Given the description of an element on the screen output the (x, y) to click on. 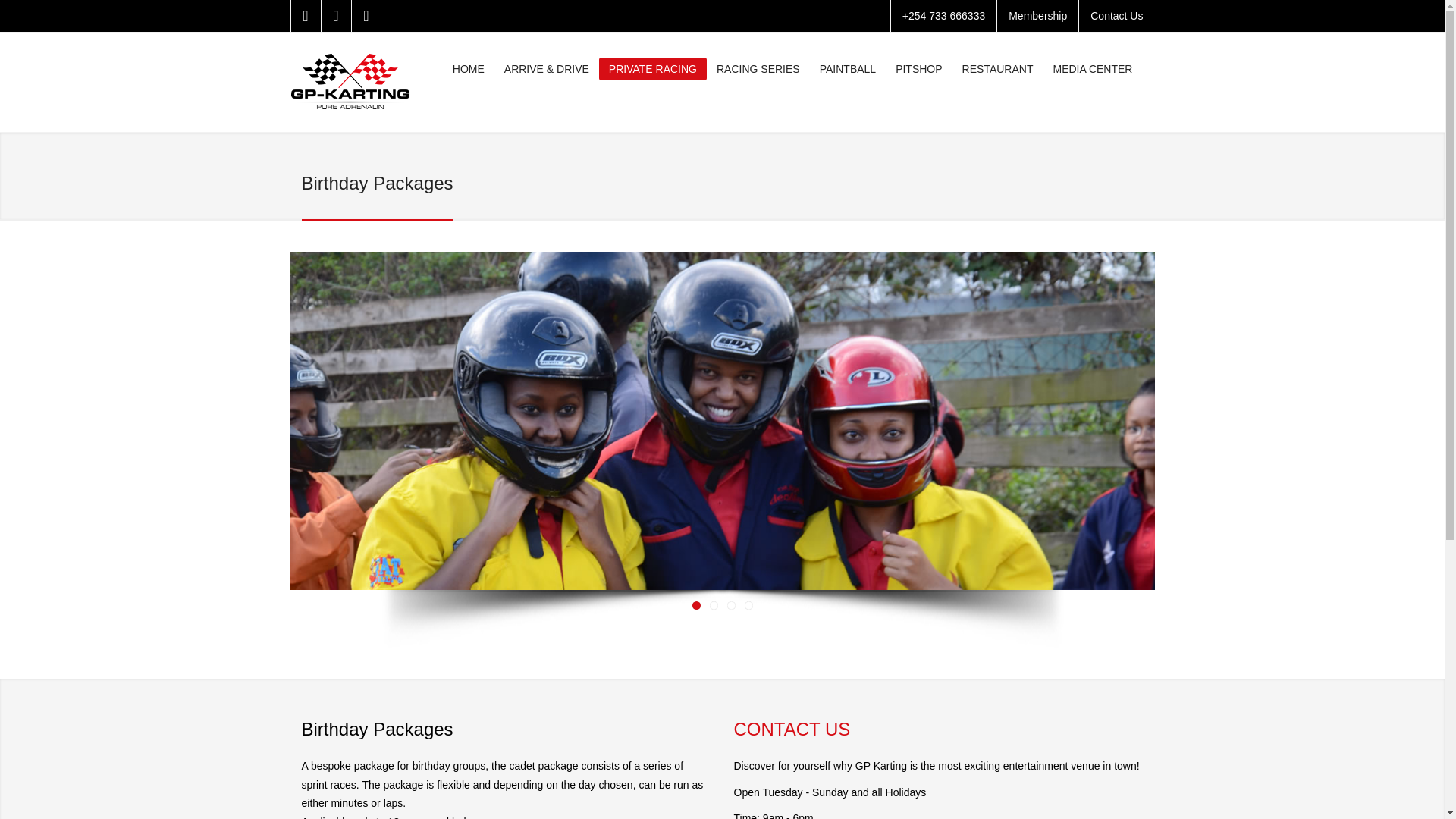
Twitter (335, 15)
Youtube (365, 15)
PITSHOP (918, 68)
Facebook (304, 15)
RESTAURANT (997, 68)
HOME (468, 68)
MEDIA CENTER (1091, 68)
PAINTBALL (847, 68)
PRIVATE RACING (652, 68)
RACING SERIES (757, 68)
